Given the description of an element on the screen output the (x, y) to click on. 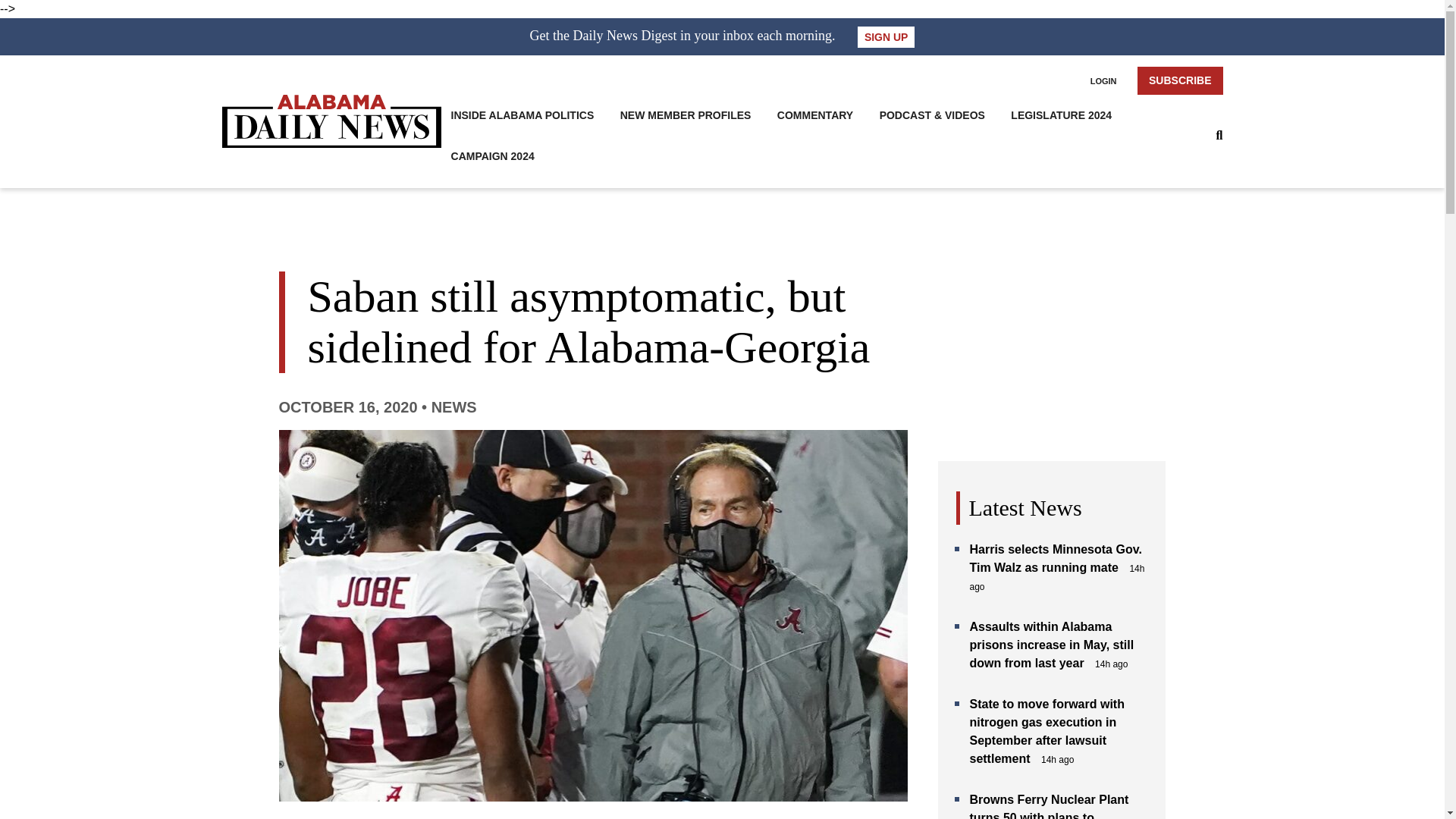
NEW MEMBER PROFILES (685, 115)
NEWS (453, 406)
INSIDE ALABAMA POLITICS (522, 115)
LOGIN (1103, 79)
COMMENTARY (815, 115)
Harris selects Minnesota Gov. Tim Walz as running mate (1055, 558)
SUBSCRIBE (1180, 80)
Alabama Daily News (331, 121)
CAMPAIGN 2024 (492, 156)
LEGISLATURE 2024 (1061, 115)
SIGN UP (886, 36)
